Given the description of an element on the screen output the (x, y) to click on. 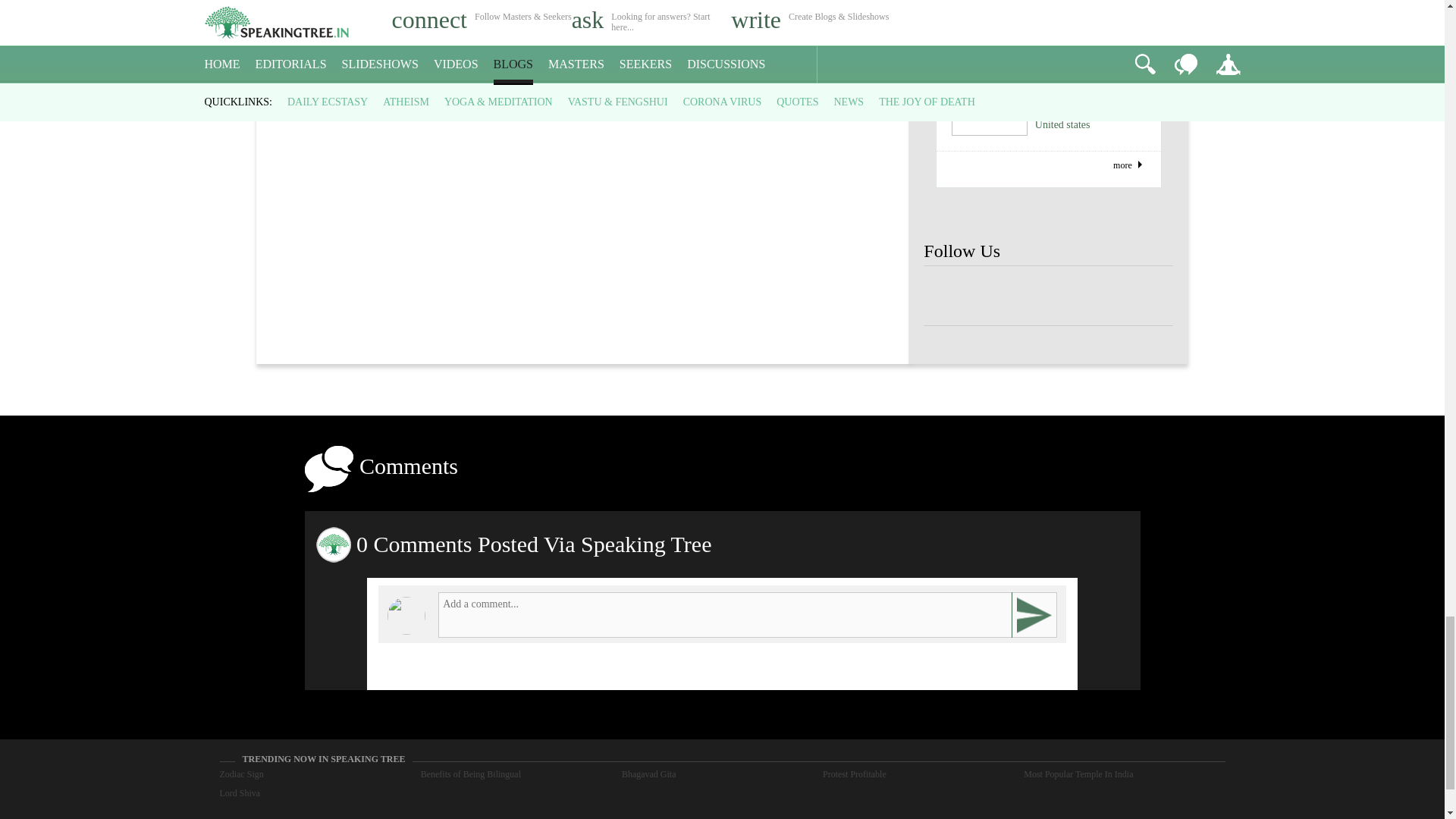
Speaking Tree FaceBook (1147, 296)
Speaking Tree FaceBook (998, 296)
Speaking Tree FaceBook (1099, 296)
Speaking Tree FaceBook (948, 296)
Speaking Tree FaceBook (1048, 296)
